Given the description of an element on the screen output the (x, y) to click on. 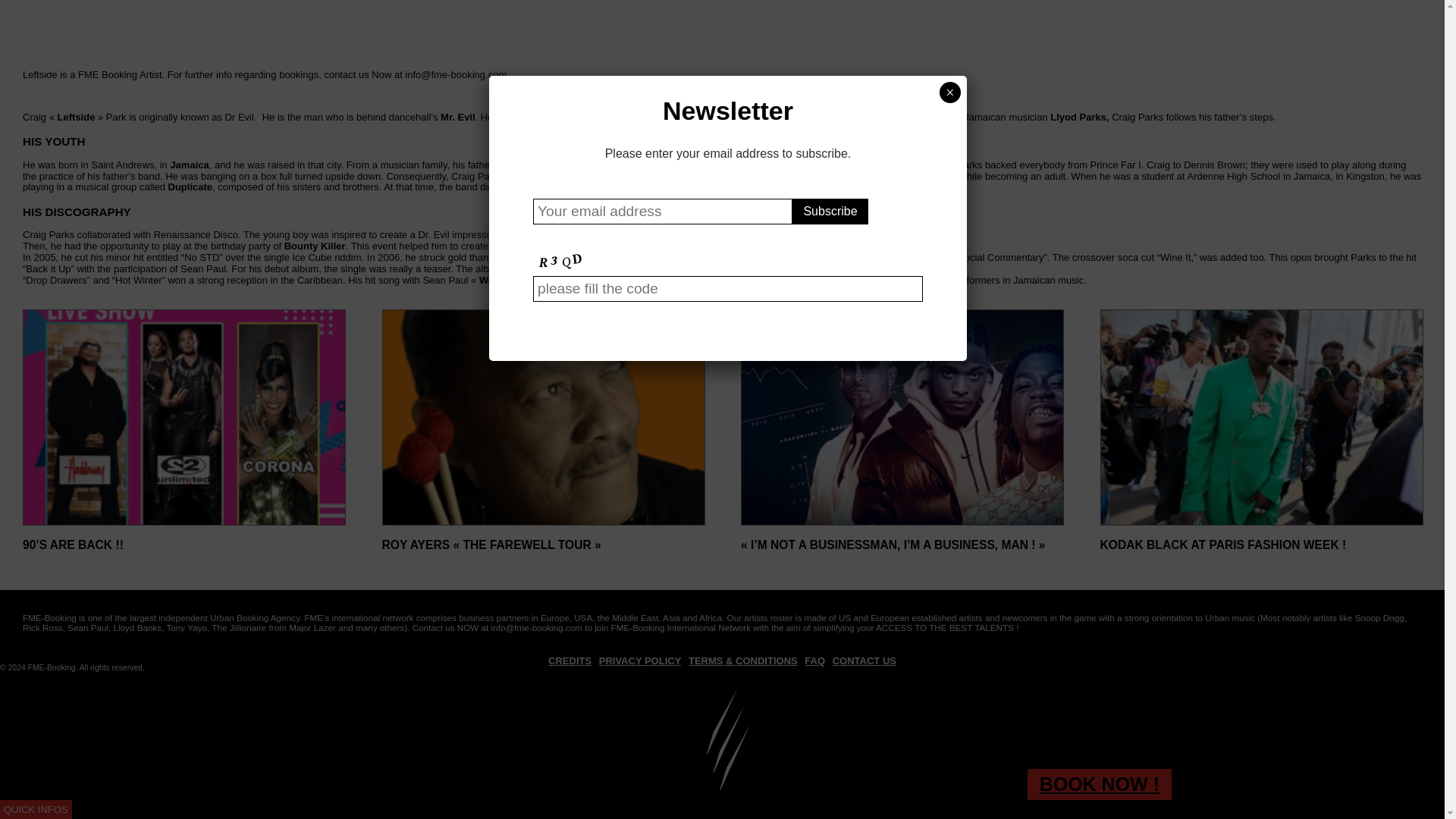
BOOK NOW ! (1099, 163)
